Given the description of an element on the screen output the (x, y) to click on. 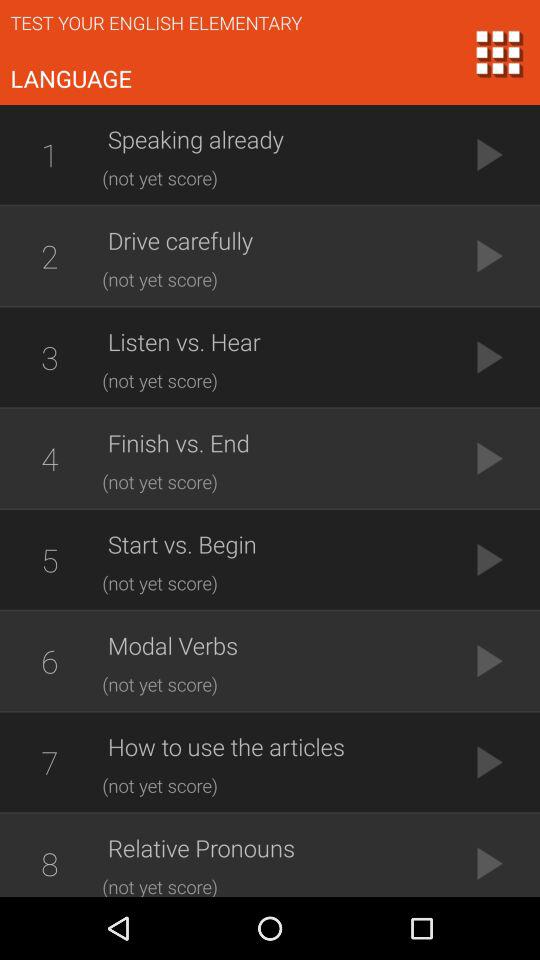
return to main menu (497, 52)
